Given the description of an element on the screen output the (x, y) to click on. 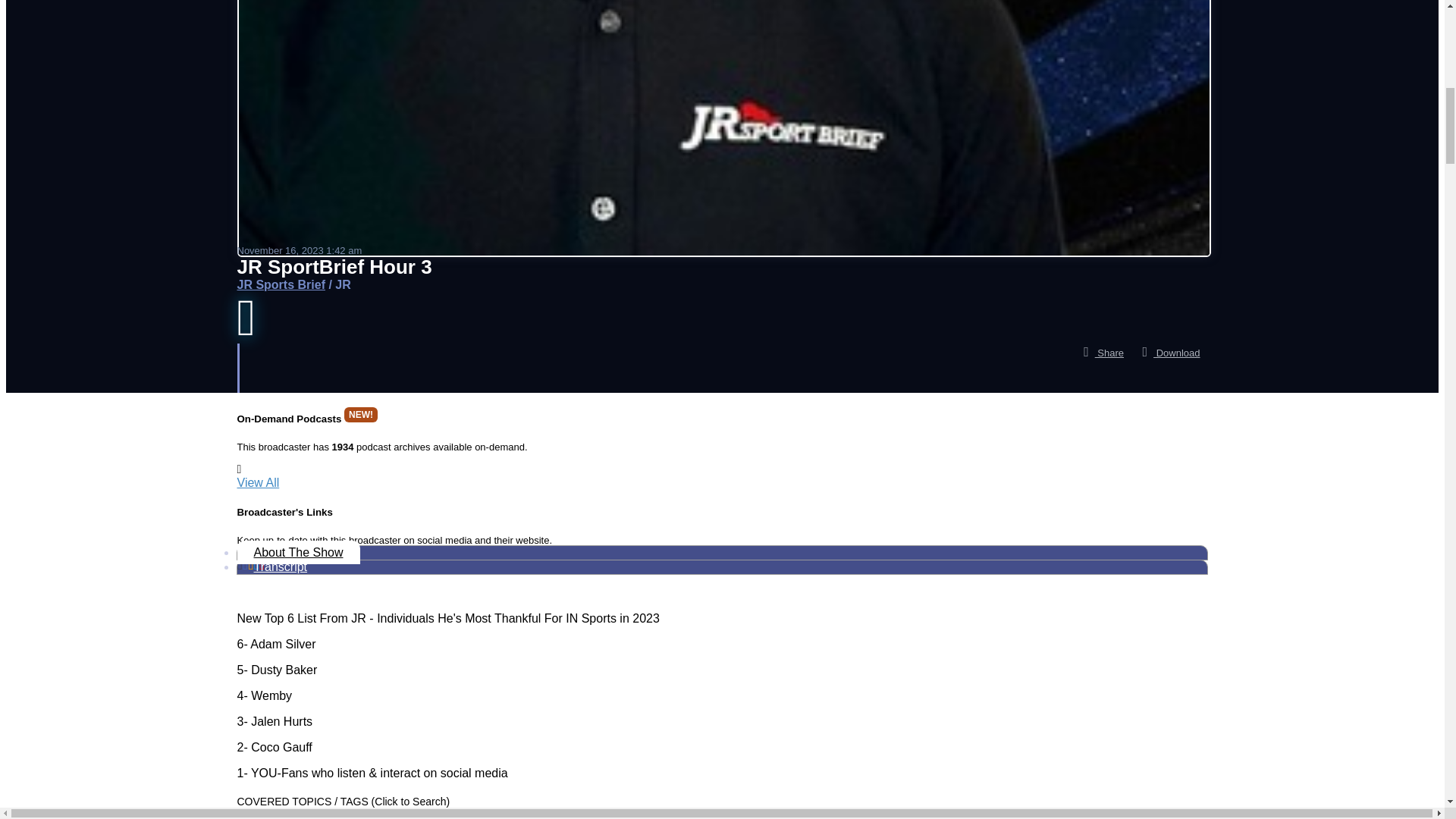
Go to Show Details (279, 284)
